Given the description of an element on the screen output the (x, y) to click on. 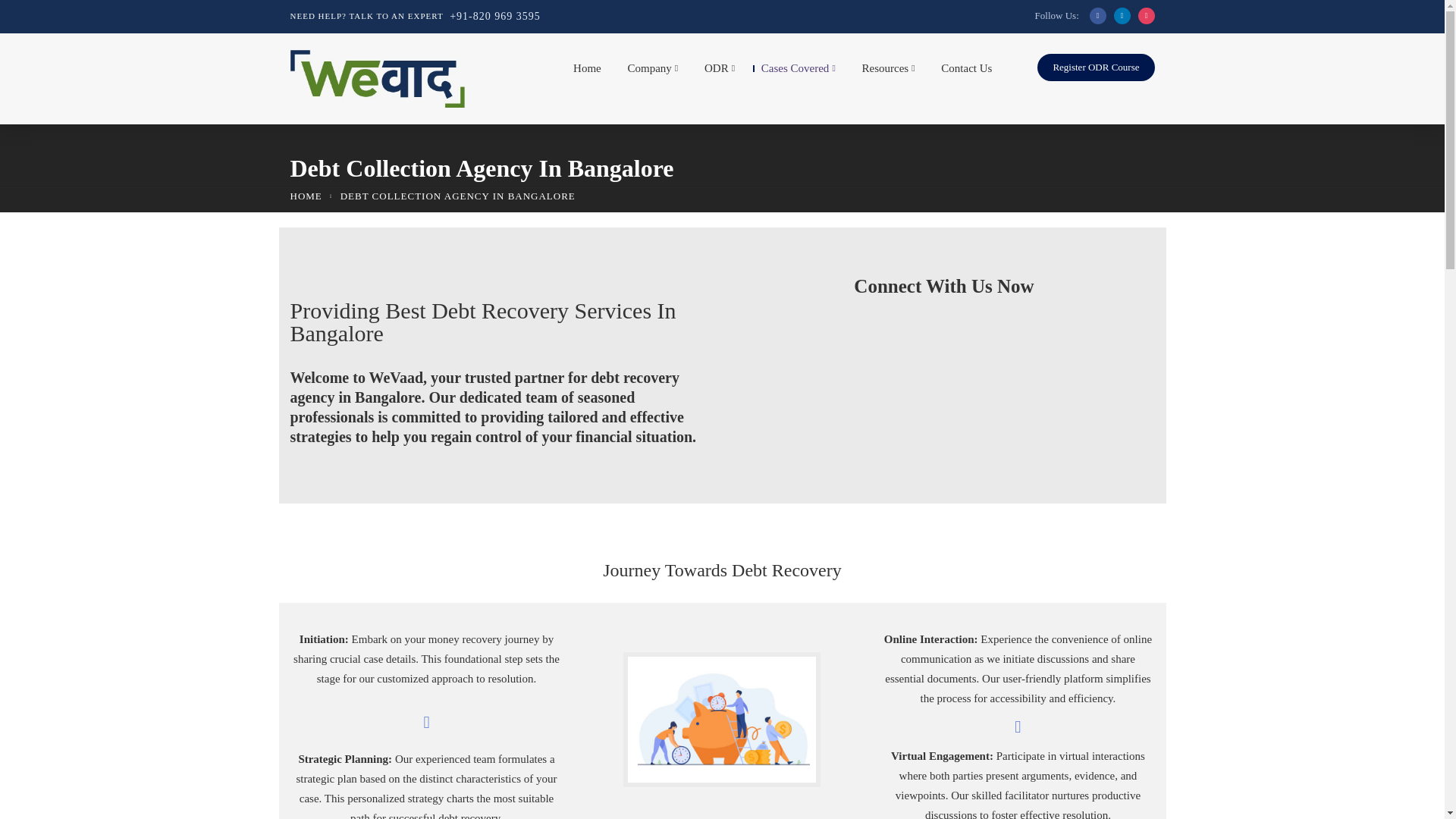
Cases Covered (793, 71)
HOME (305, 195)
ODR (715, 71)
Register ODR Course (1095, 67)
Contact Us (962, 71)
Home (582, 71)
Company (649, 71)
Debt Collection Process At WeVaad (721, 719)
Resources (884, 71)
